Given the description of an element on the screen output the (x, y) to click on. 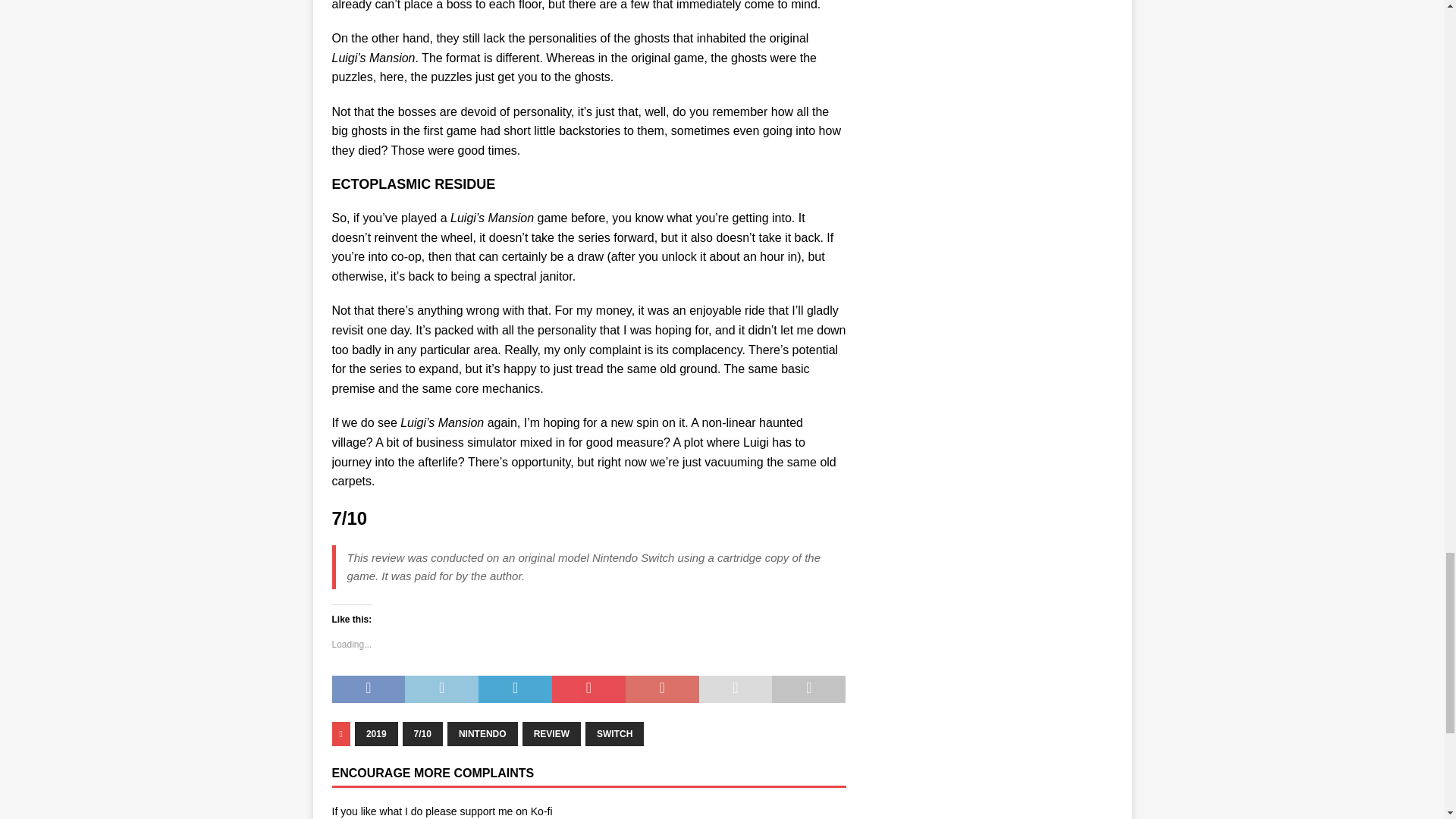
NINTENDO (482, 733)
SWITCH (614, 733)
2019 (376, 733)
REVIEW (551, 733)
